Given the description of an element on the screen output the (x, y) to click on. 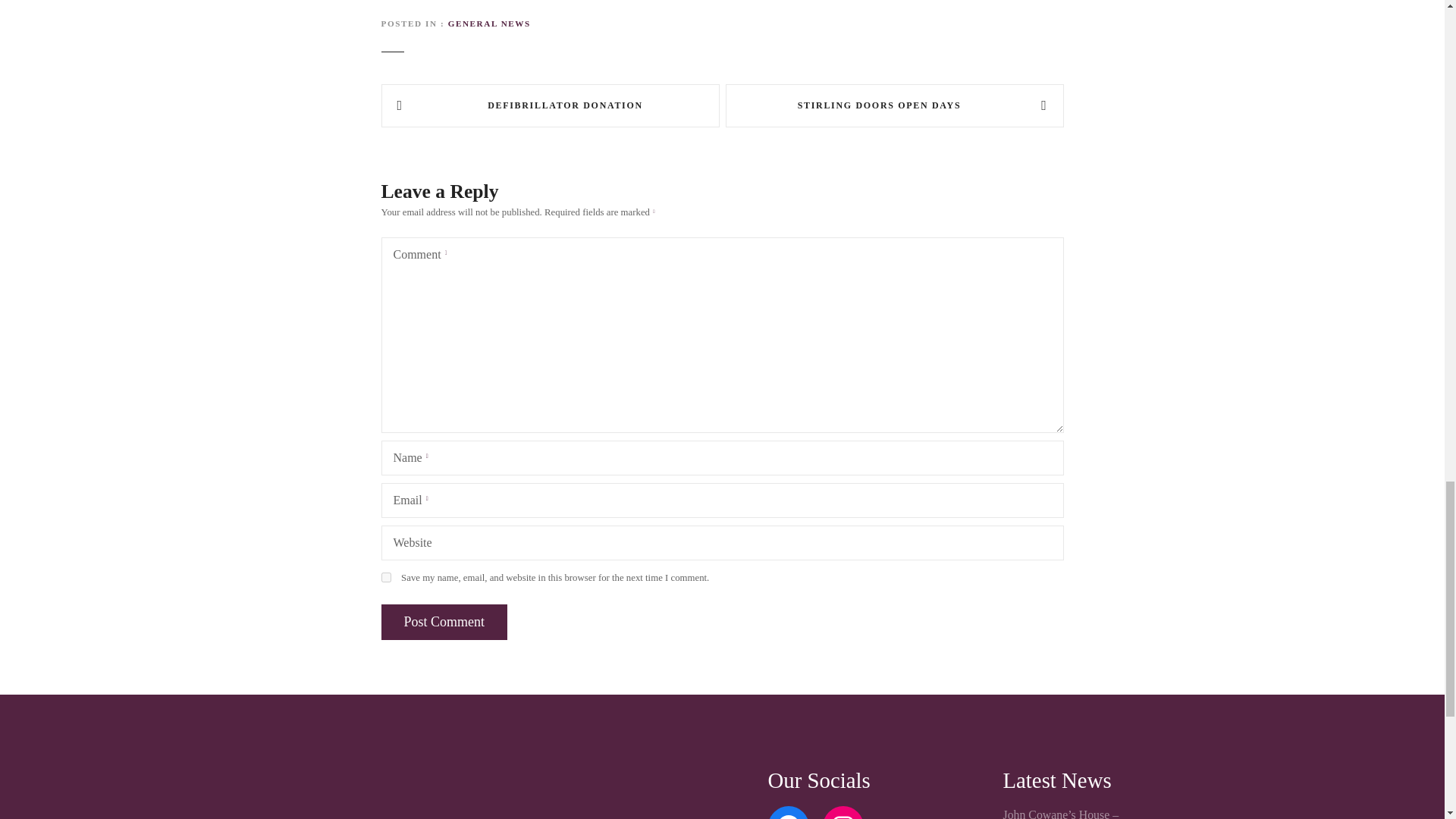
yes (385, 577)
Post Comment (443, 621)
